Given the description of an element on the screen output the (x, y) to click on. 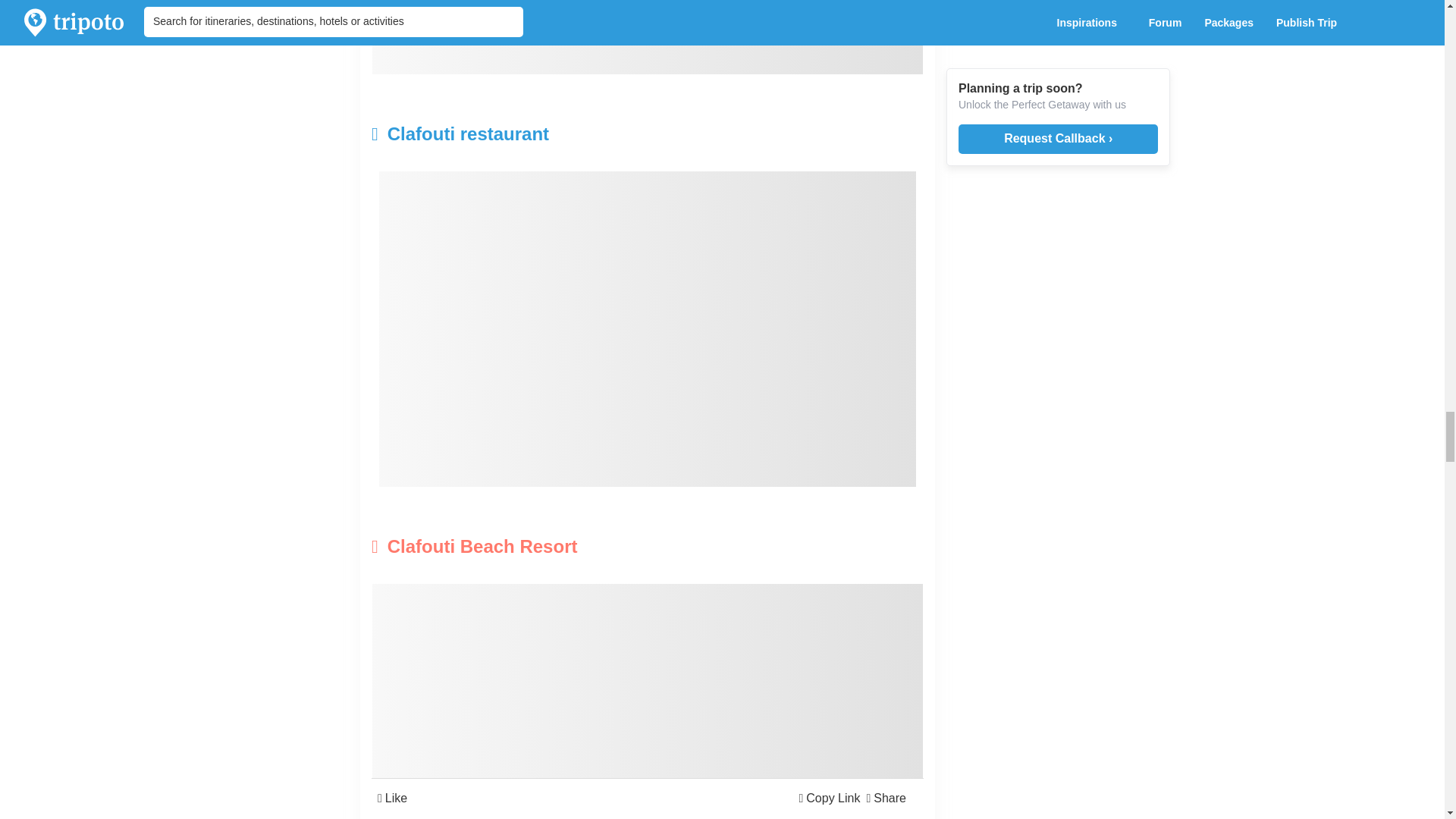
Clafouti restaurant (555, 134)
Clafouti Beach Resort (555, 546)
